Given the description of an element on the screen output the (x, y) to click on. 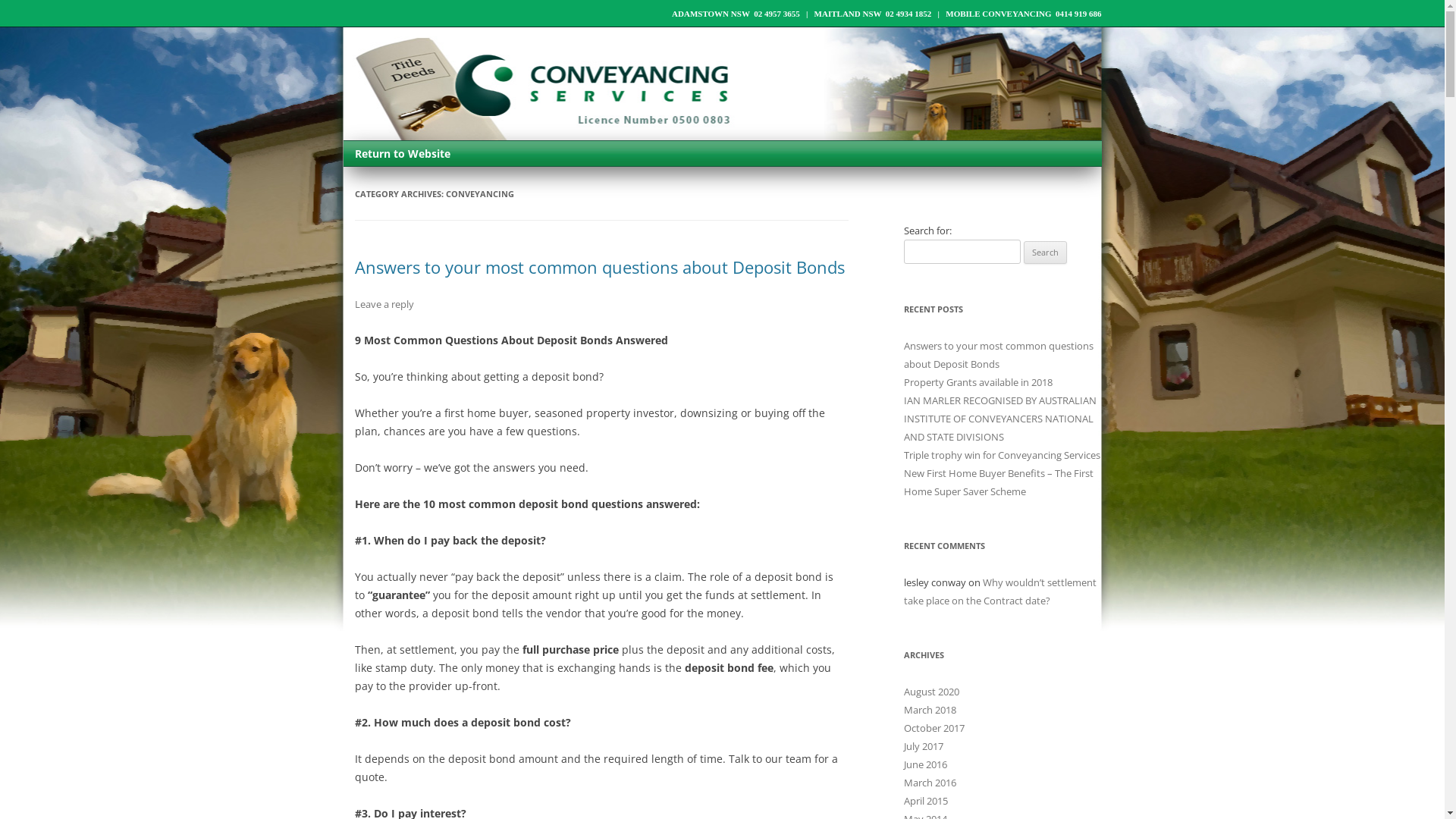
Property Grants available in 2018 Element type: text (977, 382)
June 2016 Element type: text (925, 764)
Triple trophy win for Conveyancing Services Element type: text (1001, 454)
August 2020 Element type: text (931, 691)
July 2017 Element type: text (923, 746)
March 2018 Element type: text (929, 709)
April 2015 Element type: text (925, 800)
Answers to your most common questions about Deposit Bonds Element type: text (998, 354)
Return to Website Element type: text (401, 153)
Answers to your most common questions about Deposit Bonds Element type: text (599, 266)
Search Element type: text (1044, 252)
March 2016 Element type: text (929, 782)
October 2017 Element type: text (933, 727)
Leave a reply Element type: text (384, 303)
